Given the description of an element on the screen output the (x, y) to click on. 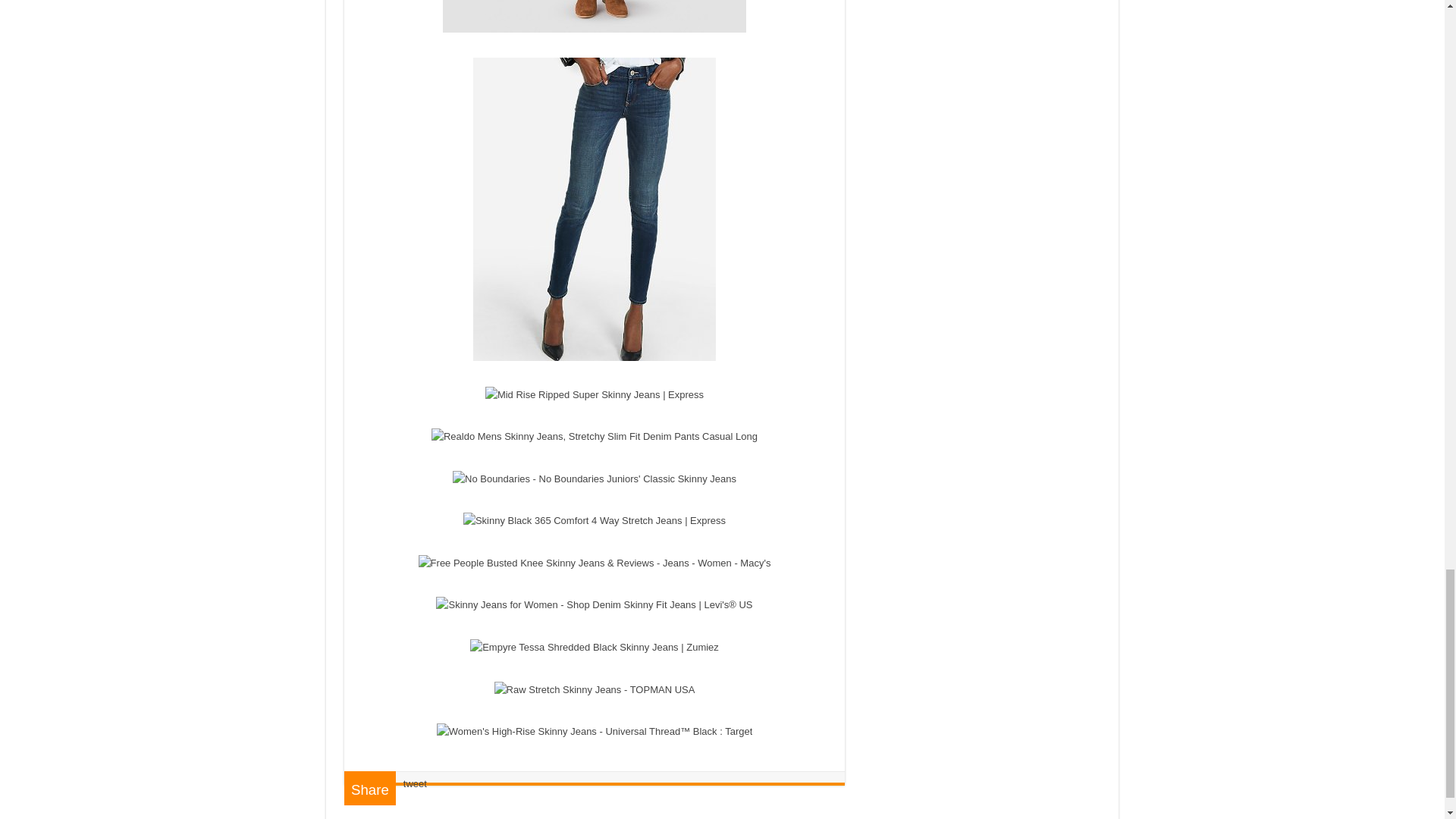
tweet (414, 783)
